Given the description of an element on the screen output the (x, y) to click on. 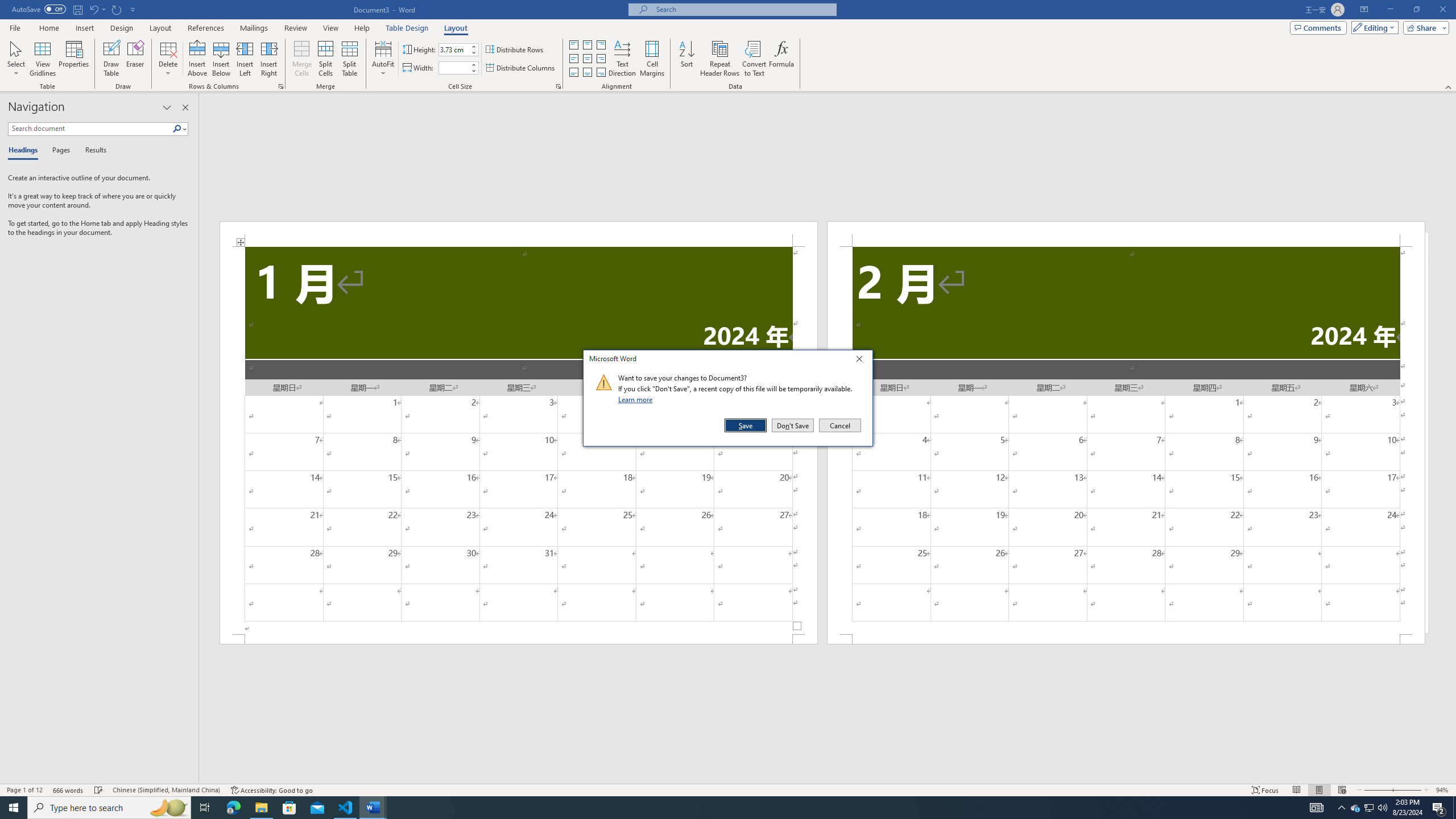
AutoFit (383, 58)
Align Bottom Center (587, 72)
